Given the description of an element on the screen output the (x, y) to click on. 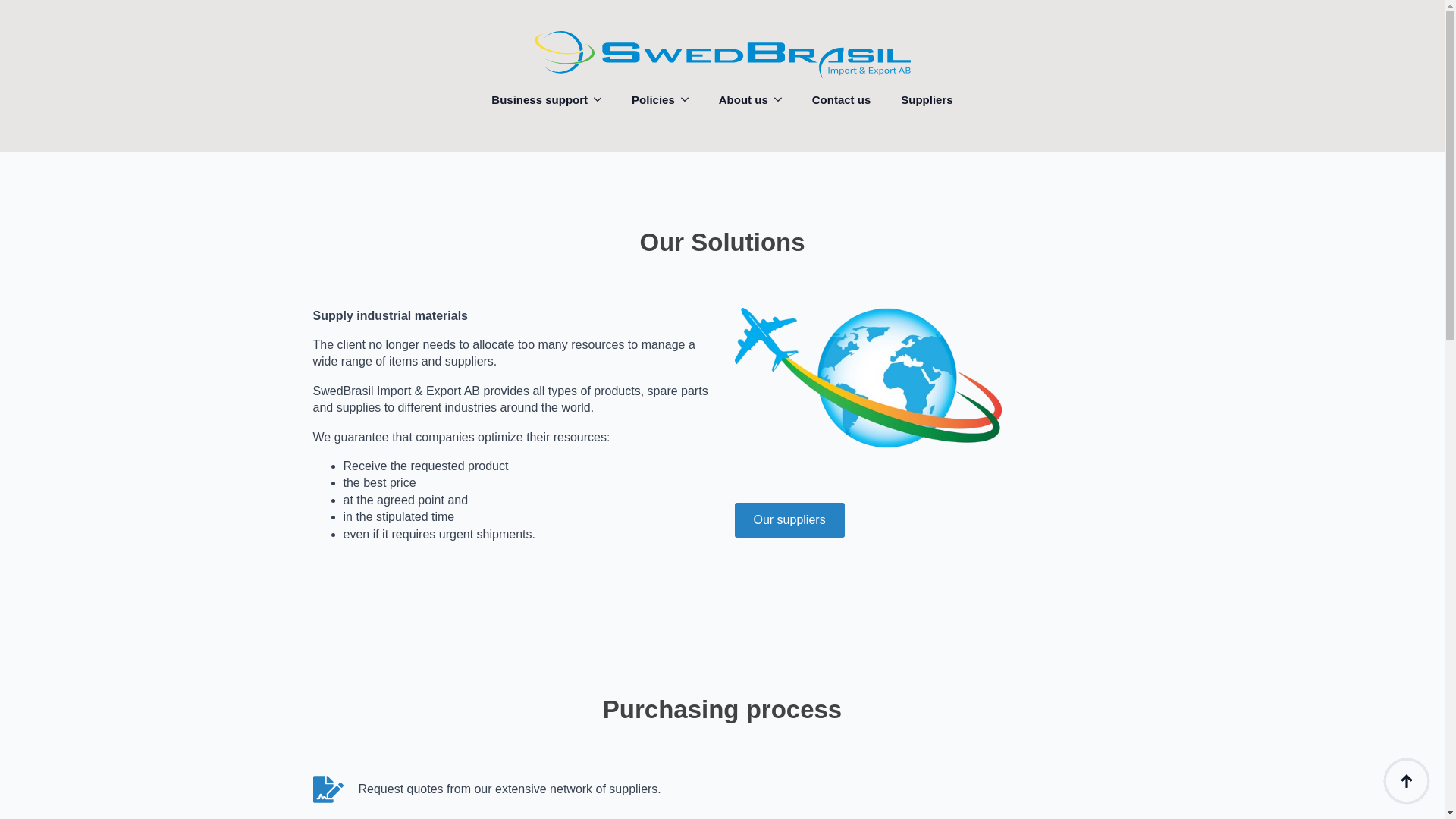
Our suppliers (788, 519)
About us (735, 99)
Suppliers (926, 99)
Contact us (841, 99)
Business support (532, 99)
Policies (645, 99)
